Given the description of an element on the screen output the (x, y) to click on. 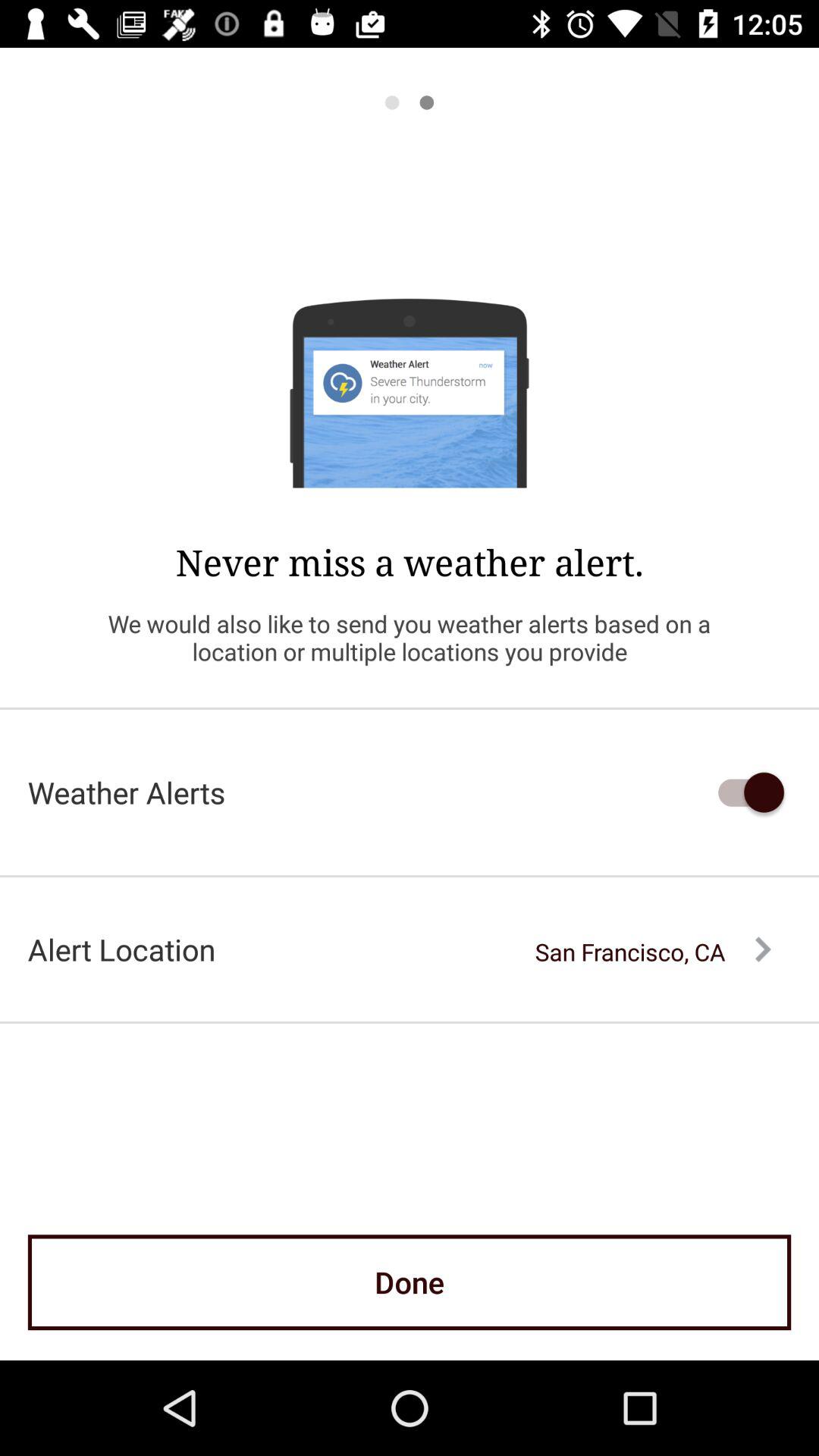
press icon next to the alert location (653, 951)
